Given the description of an element on the screen output the (x, y) to click on. 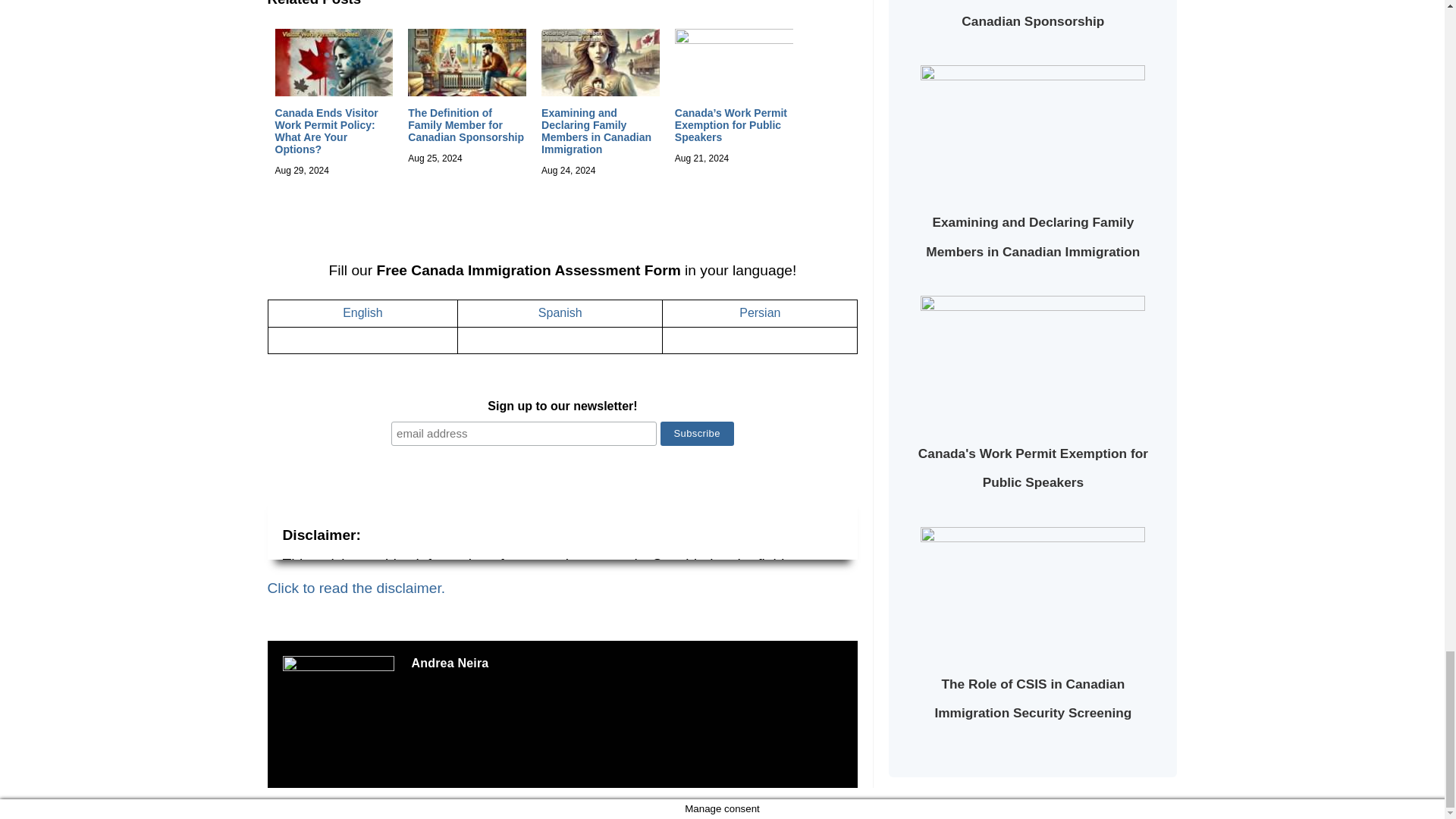
The Definition of Family Member for Canadian Sponsorship (465, 125)
Subscribe (697, 433)
